Given the description of an element on the screen output the (x, y) to click on. 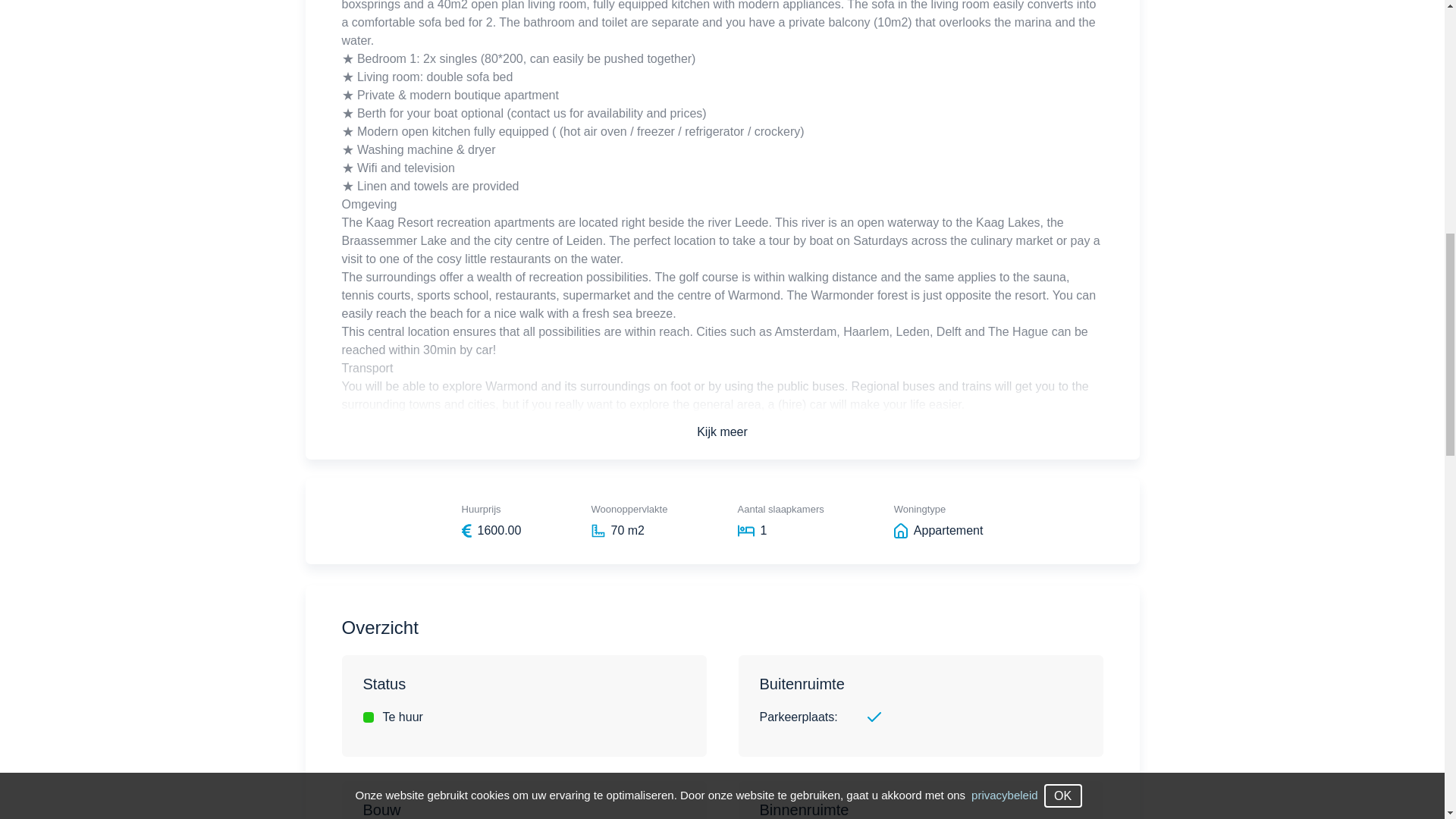
Kijk meer (722, 432)
